Given the description of an element on the screen output the (x, y) to click on. 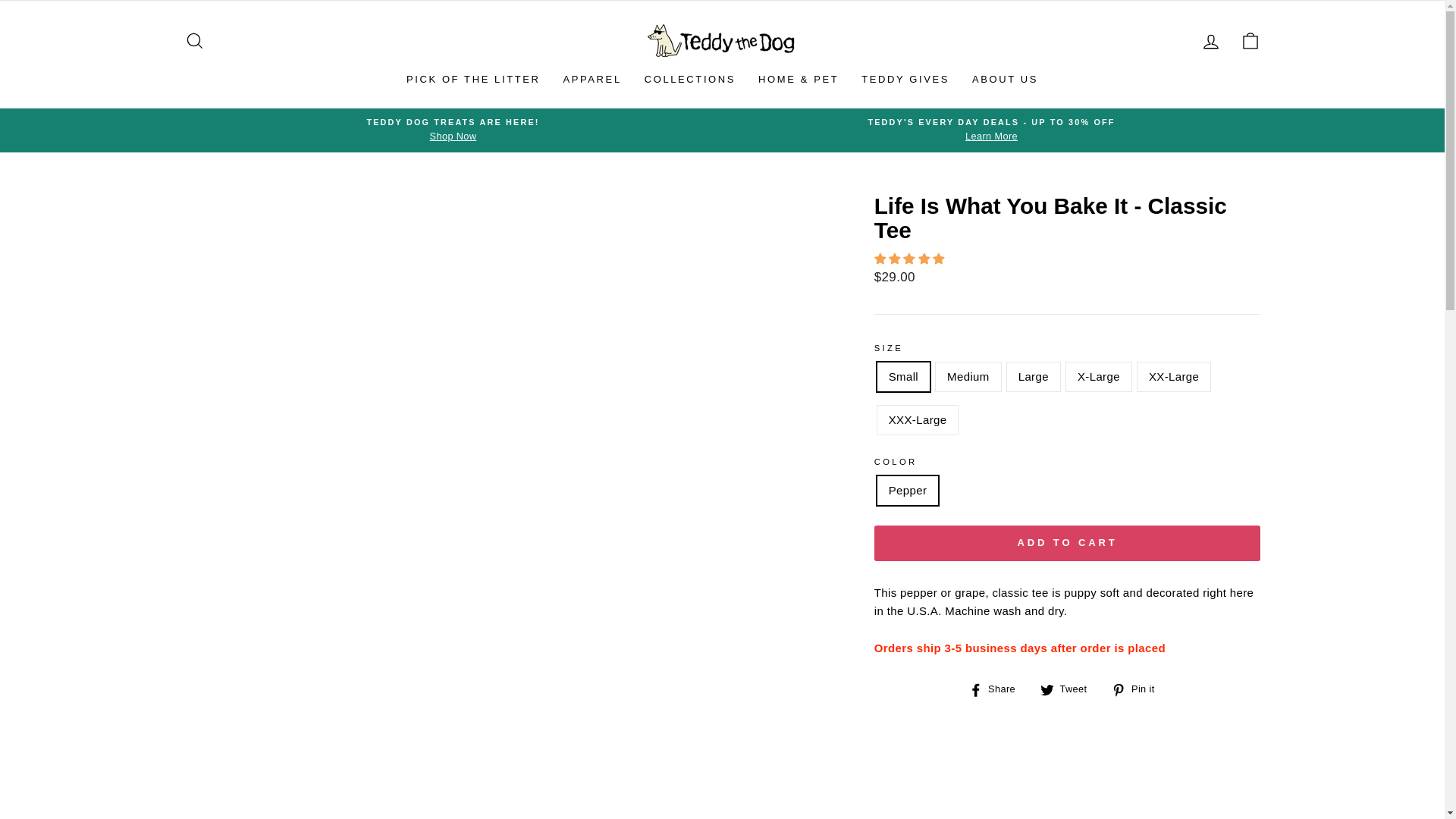
Pin on Pinterest (1139, 689)
Share on Facebook (997, 689)
Tweet on Twitter (1069, 689)
